Given the description of an element on the screen output the (x, y) to click on. 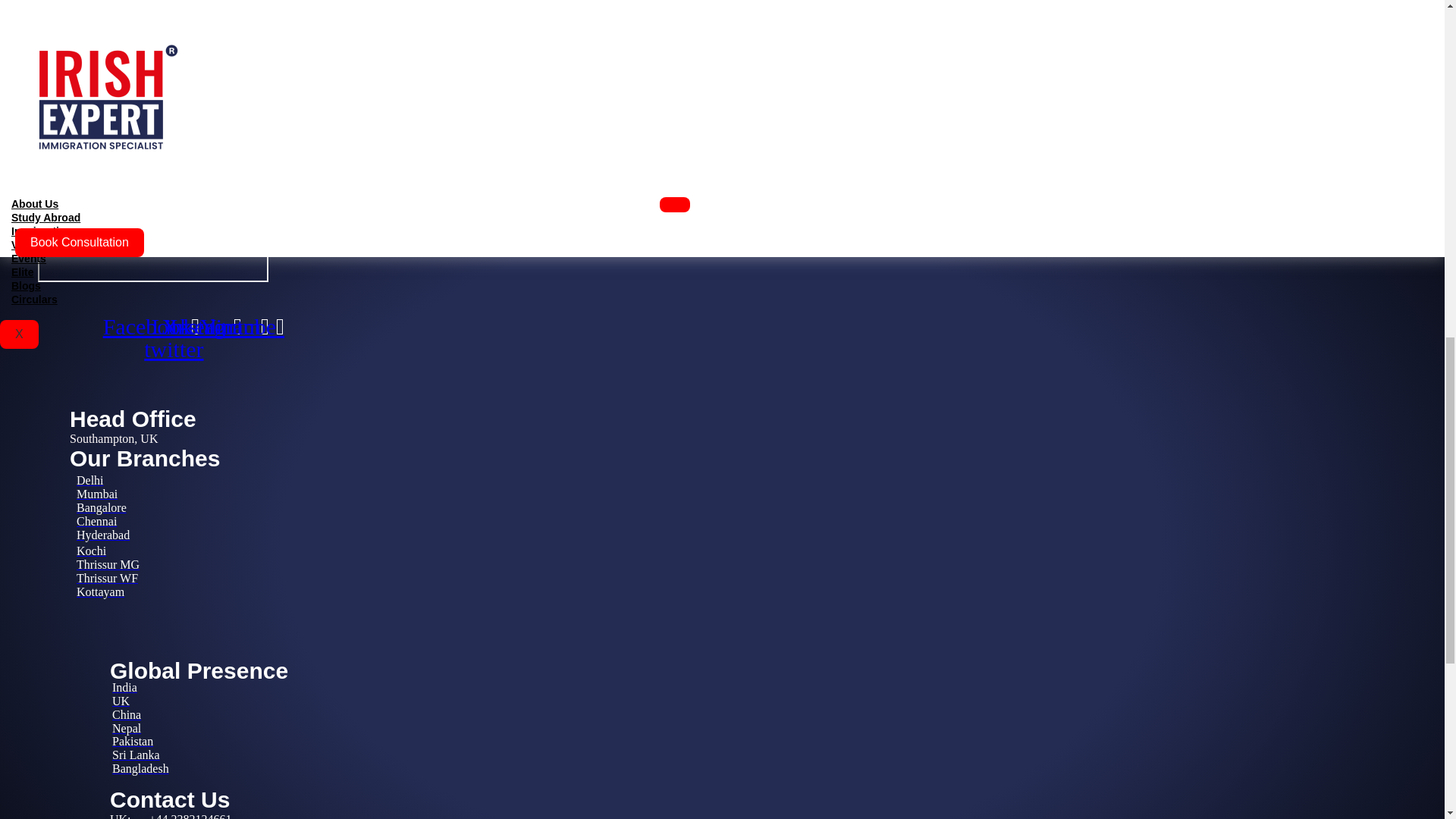
Nepal (126, 727)
Chennai (96, 521)
Thrissur MG (108, 563)
Facebook (150, 326)
X-twitter (172, 337)
Kottayam (100, 591)
Bangladesh (140, 768)
China (126, 714)
Kochi (91, 550)
Linkedin (196, 326)
